Given the description of an element on the screen output the (x, y) to click on. 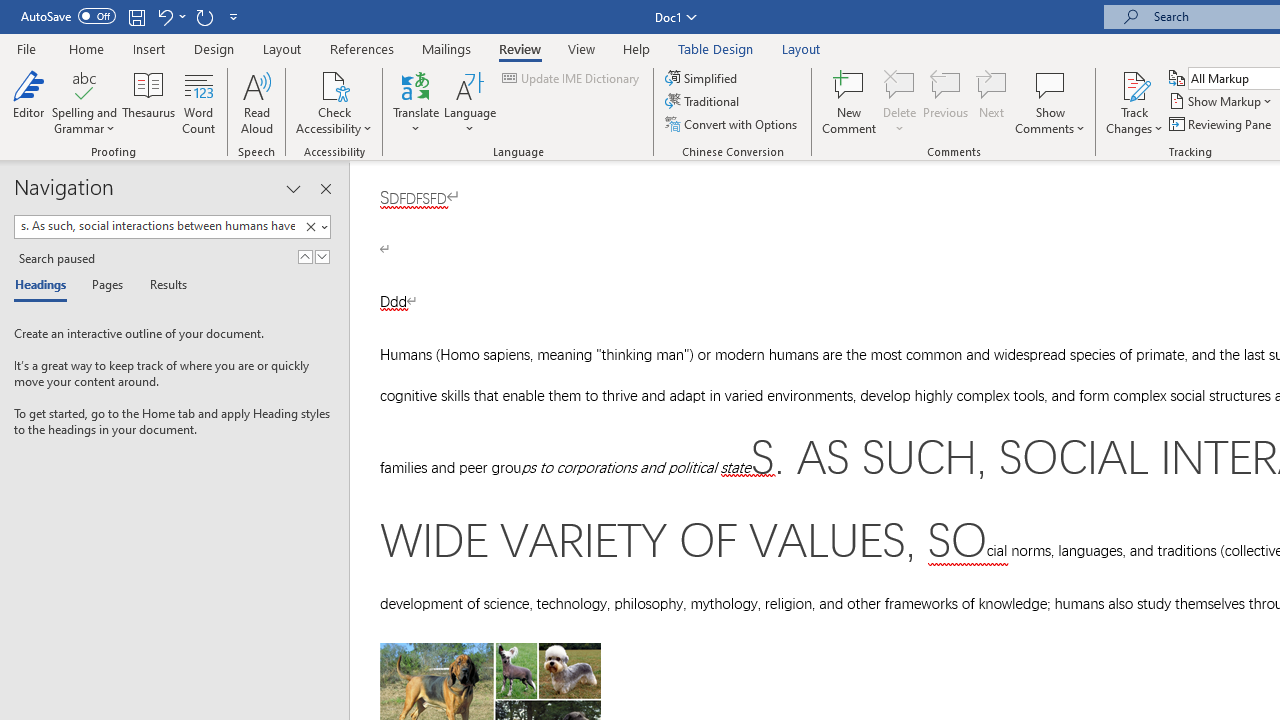
Simplified (702, 78)
Translate (415, 102)
Thesaurus... (148, 102)
Clear (314, 227)
Next Result (322, 256)
Reviewing Pane (1221, 124)
Show Comments (1050, 84)
Next (991, 102)
